Given the description of an element on the screen output the (x, y) to click on. 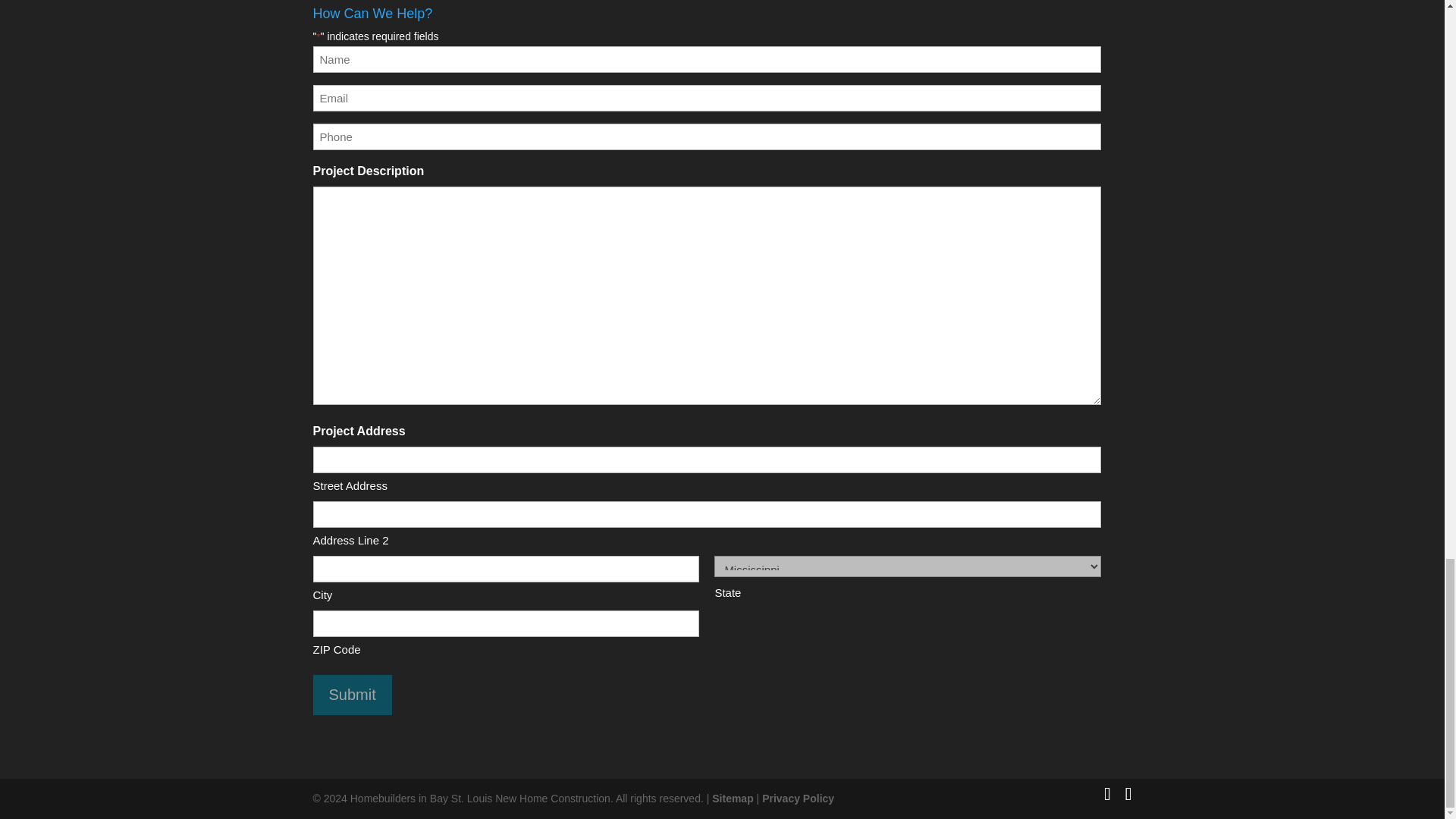
Submit (352, 694)
Sitemap (731, 798)
Privacy Policy (797, 798)
Submit (352, 694)
